Given the description of an element on the screen output the (x, y) to click on. 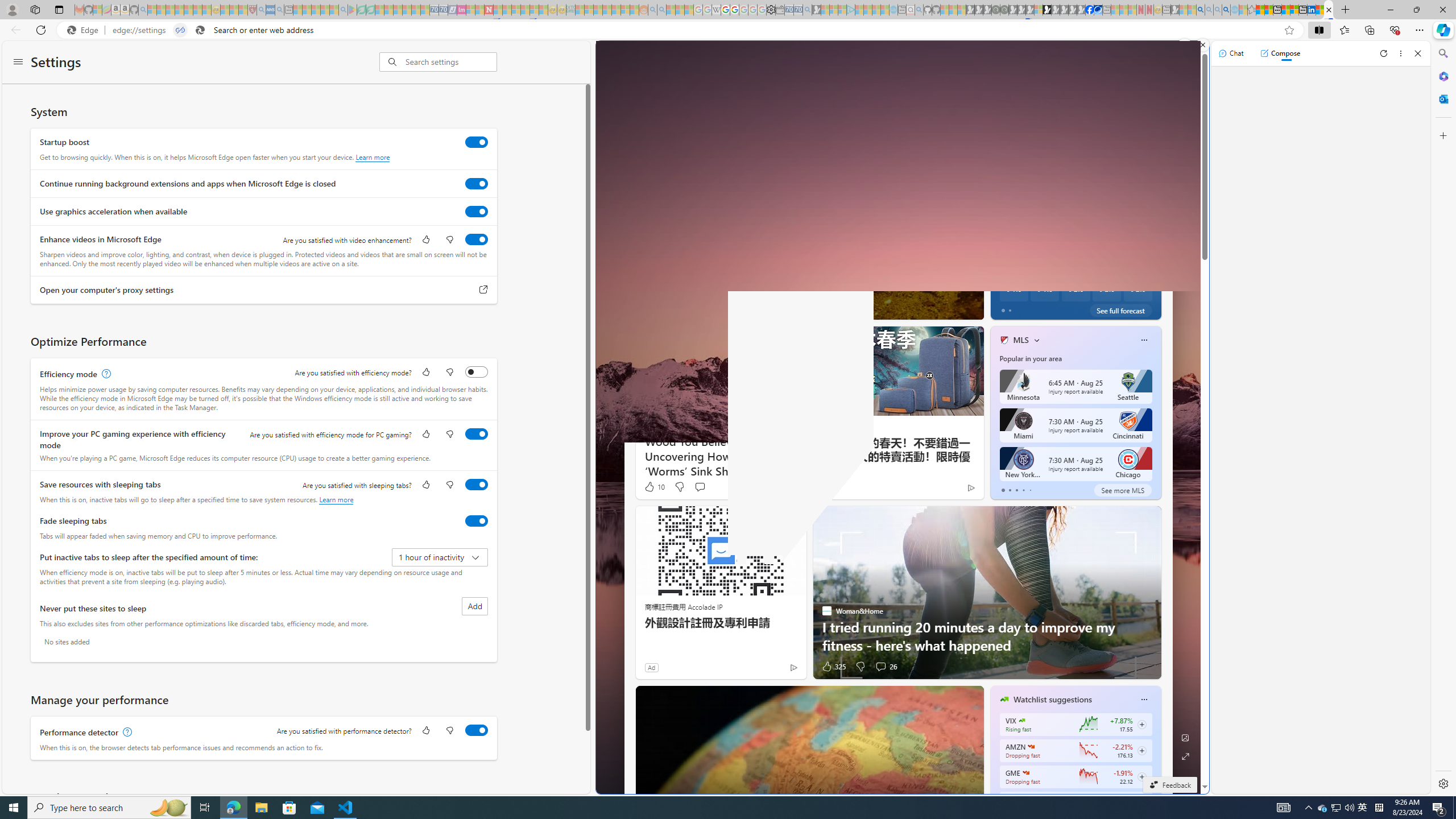
Aberdeen (1016, 160)
152 Like (1007, 307)
AutomationID: tab-14 (774, 308)
See more MLS (1122, 490)
GAMESTOP CORP. (1025, 772)
